Given the description of an element on the screen output the (x, y) to click on. 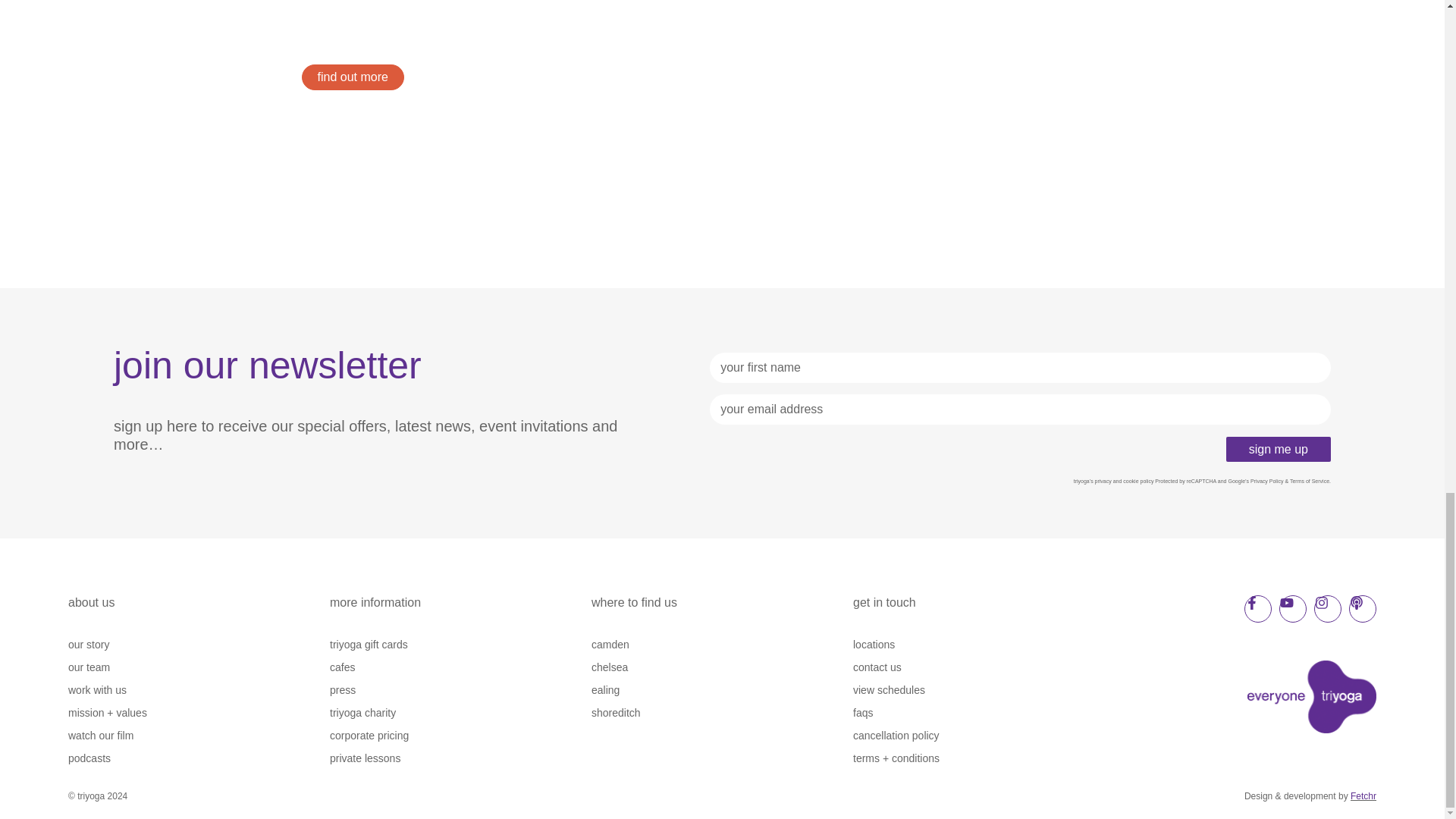
cafes (460, 667)
our team (199, 667)
podcasts (199, 758)
our story (199, 644)
watch our film (199, 735)
work with us (199, 689)
